Given the description of an element on the screen output the (x, y) to click on. 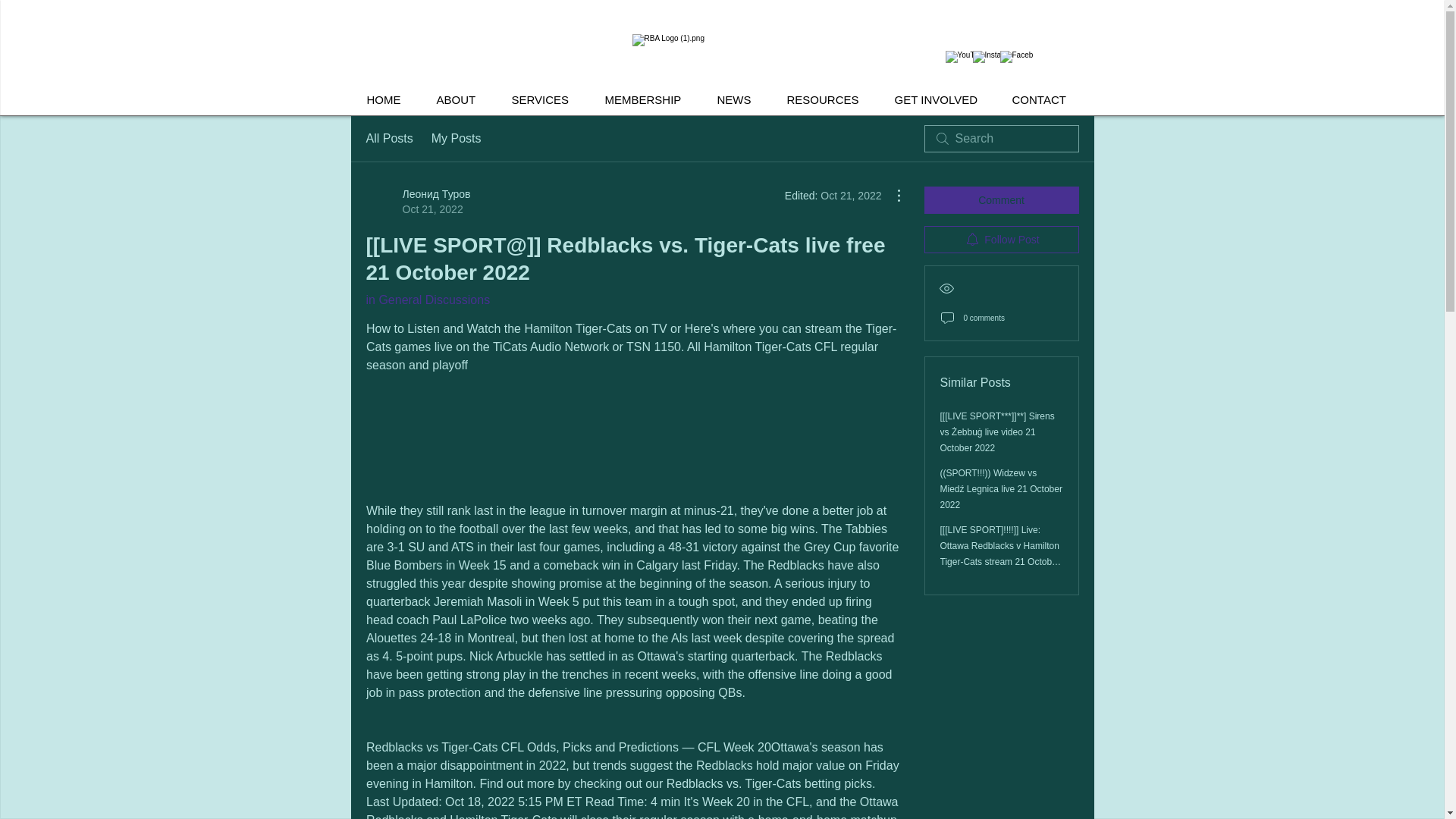
CONTACT (1045, 99)
Follow Post (1000, 239)
in General Discussions (427, 299)
My Posts (455, 138)
HOME (390, 99)
ABOUT (462, 99)
All Posts (388, 138)
Comment (1000, 199)
NEWS (739, 99)
